Given the description of an element on the screen output the (x, y) to click on. 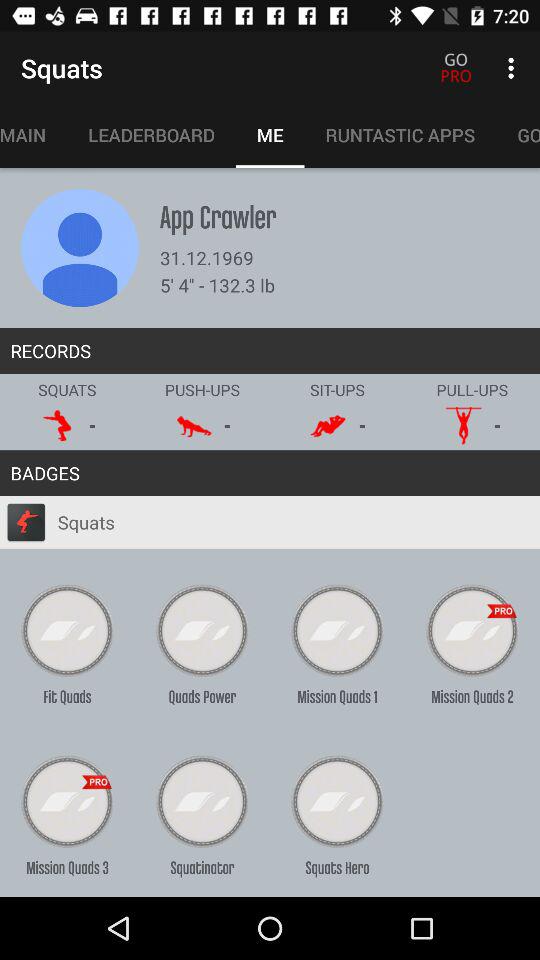
add user picture (80, 248)
